Given the description of an element on the screen output the (x, y) to click on. 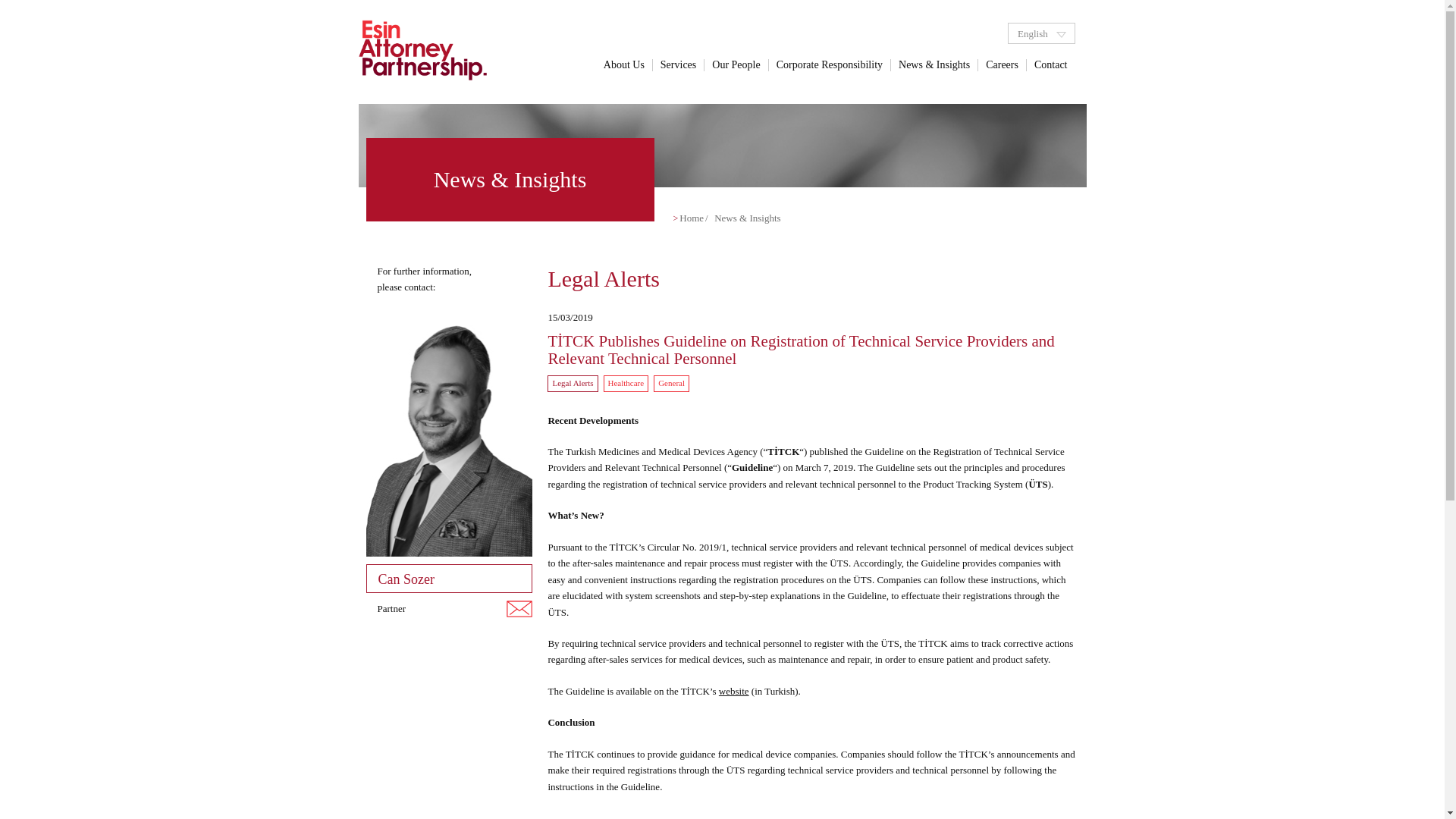
website (734, 690)
English (1041, 33)
Corporate Responsibility (829, 64)
Careers (1002, 64)
Our People (736, 64)
Services (678, 64)
Contact (1050, 64)
Home (691, 217)
About Us (623, 64)
